Given the description of an element on the screen output the (x, y) to click on. 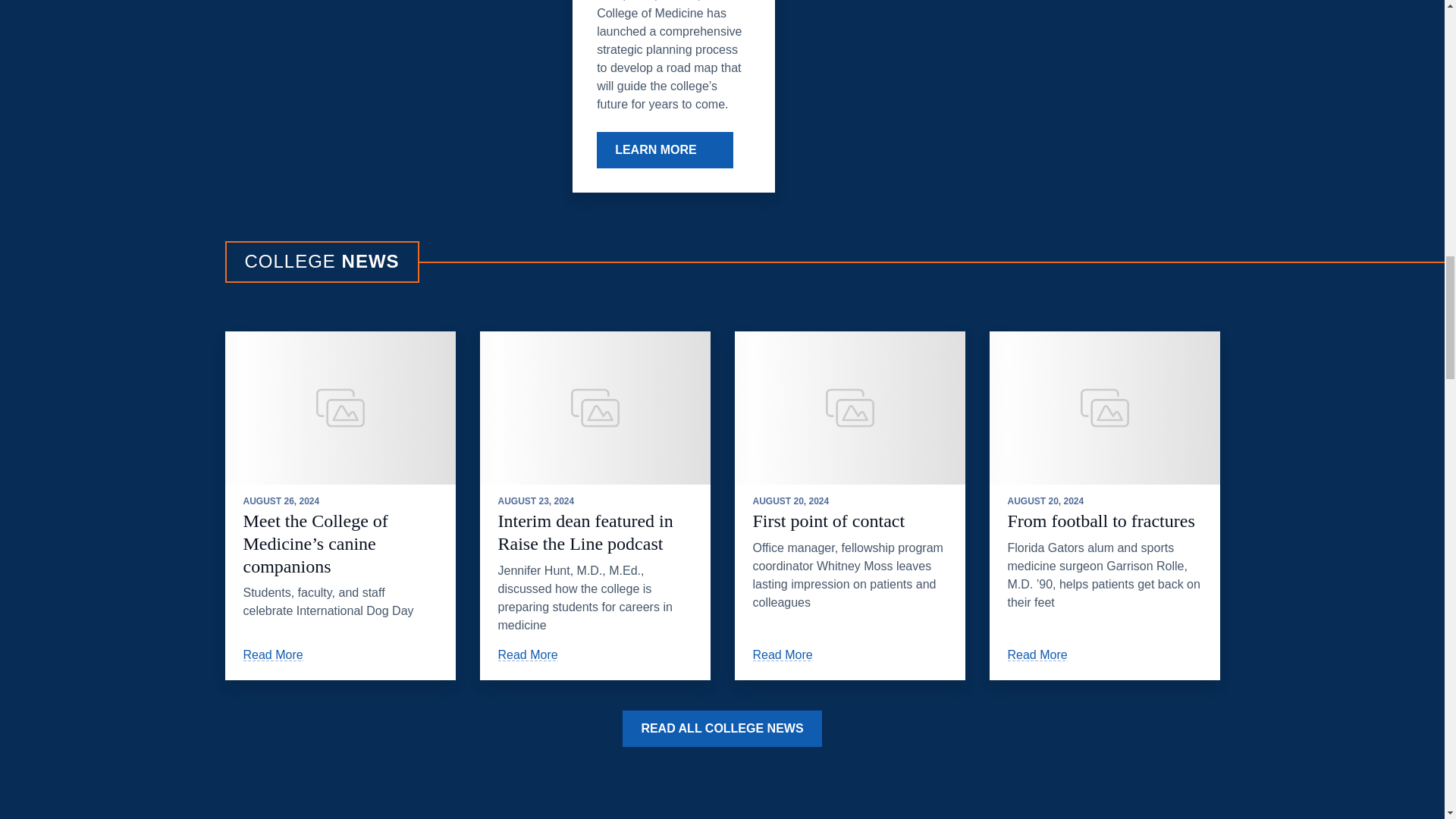
Read More (1044, 654)
Read More (789, 654)
Read More (534, 654)
Read More (280, 654)
